Given the description of an element on the screen output the (x, y) to click on. 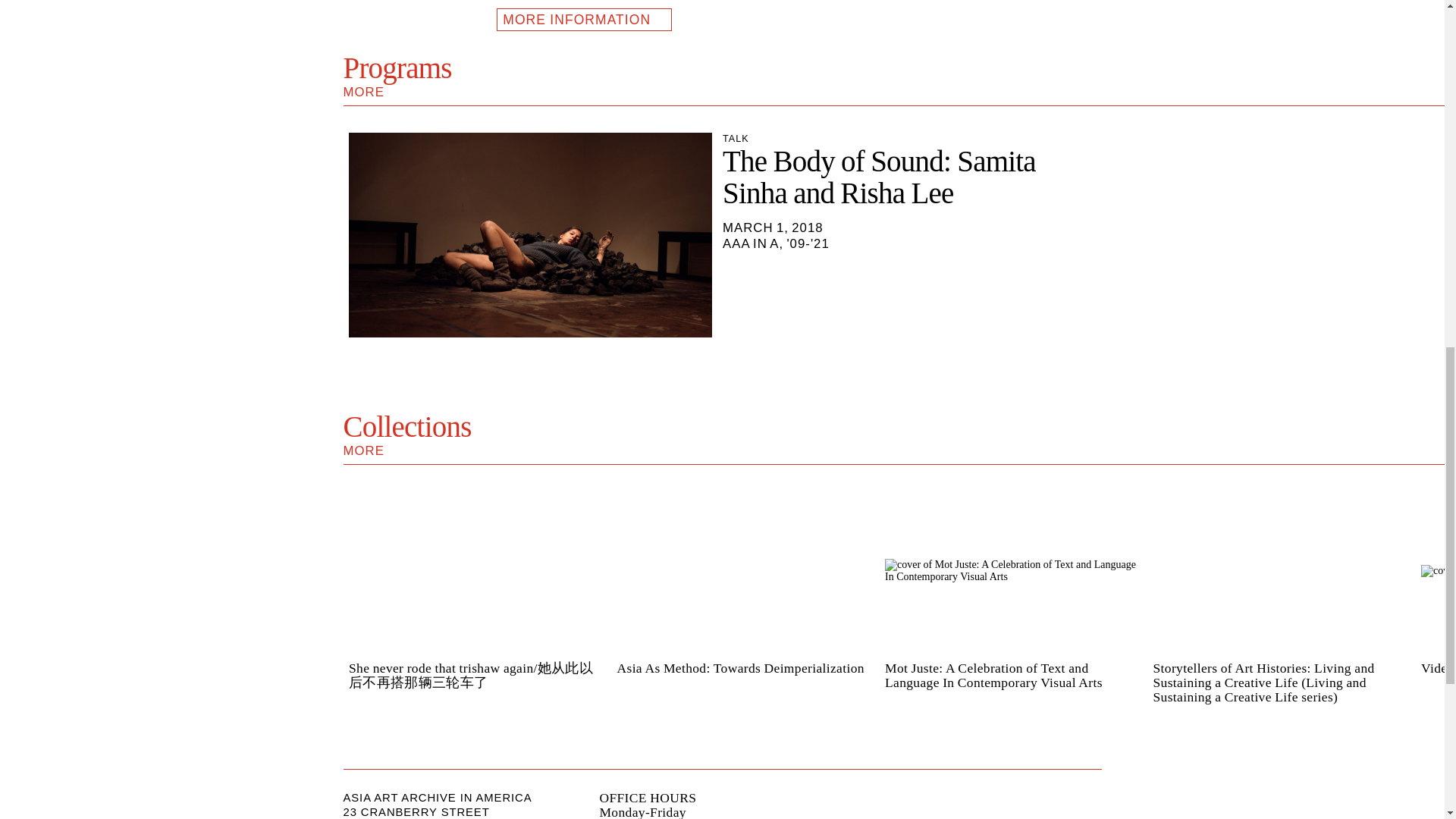
Asia As Method: Towards Deimperialization (721, 434)
